Given the description of an element on the screen output the (x, y) to click on. 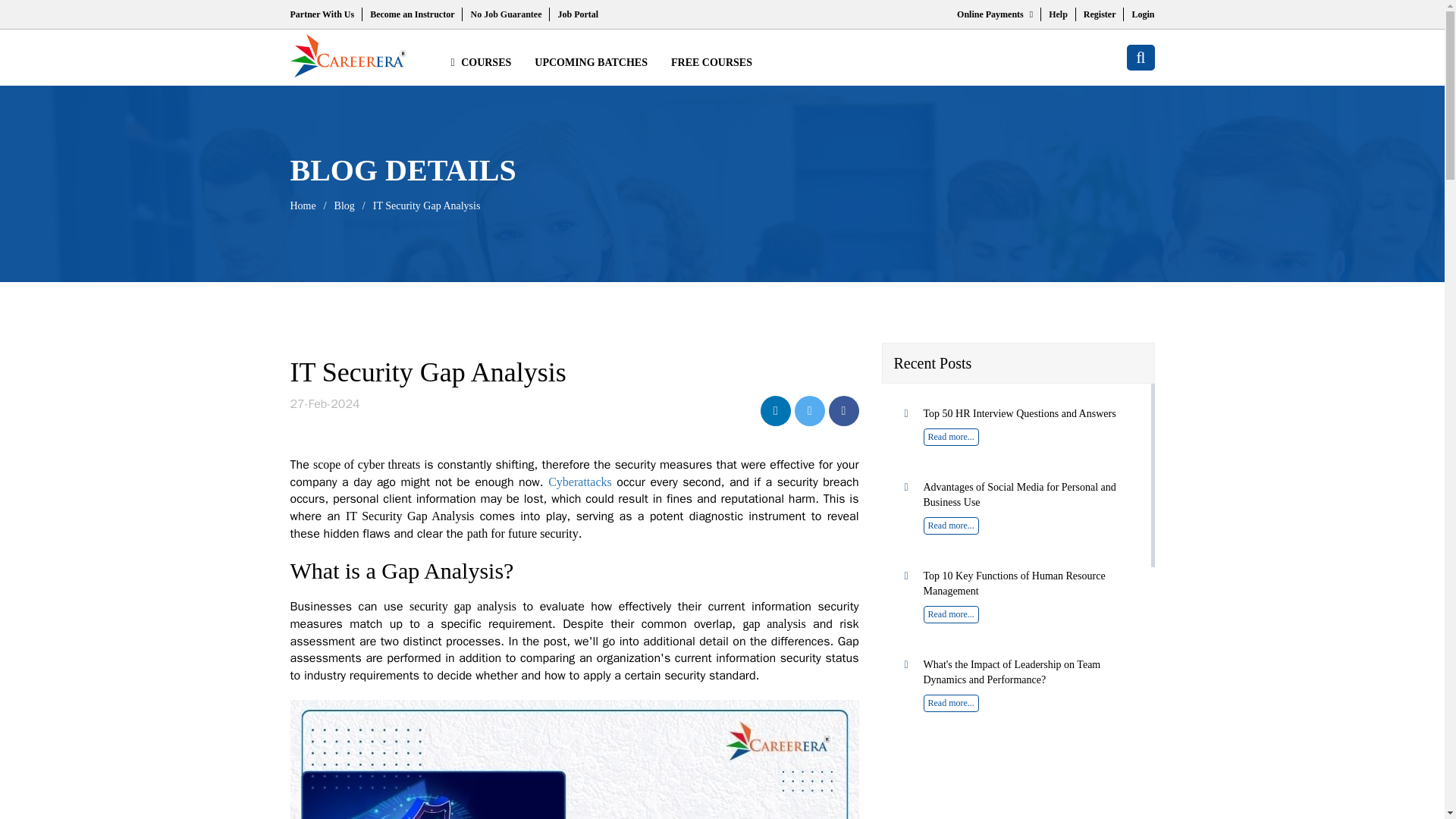
Online Payments (994, 14)
Become an Instructor (411, 14)
Job Portal (577, 14)
Login (1142, 14)
No Job Guarantee (505, 14)
Help (1057, 14)
Partner With Us (321, 14)
COURSES (480, 62)
Register (1099, 14)
Cybersecurity Threats (579, 482)
